Given the description of an element on the screen output the (x, y) to click on. 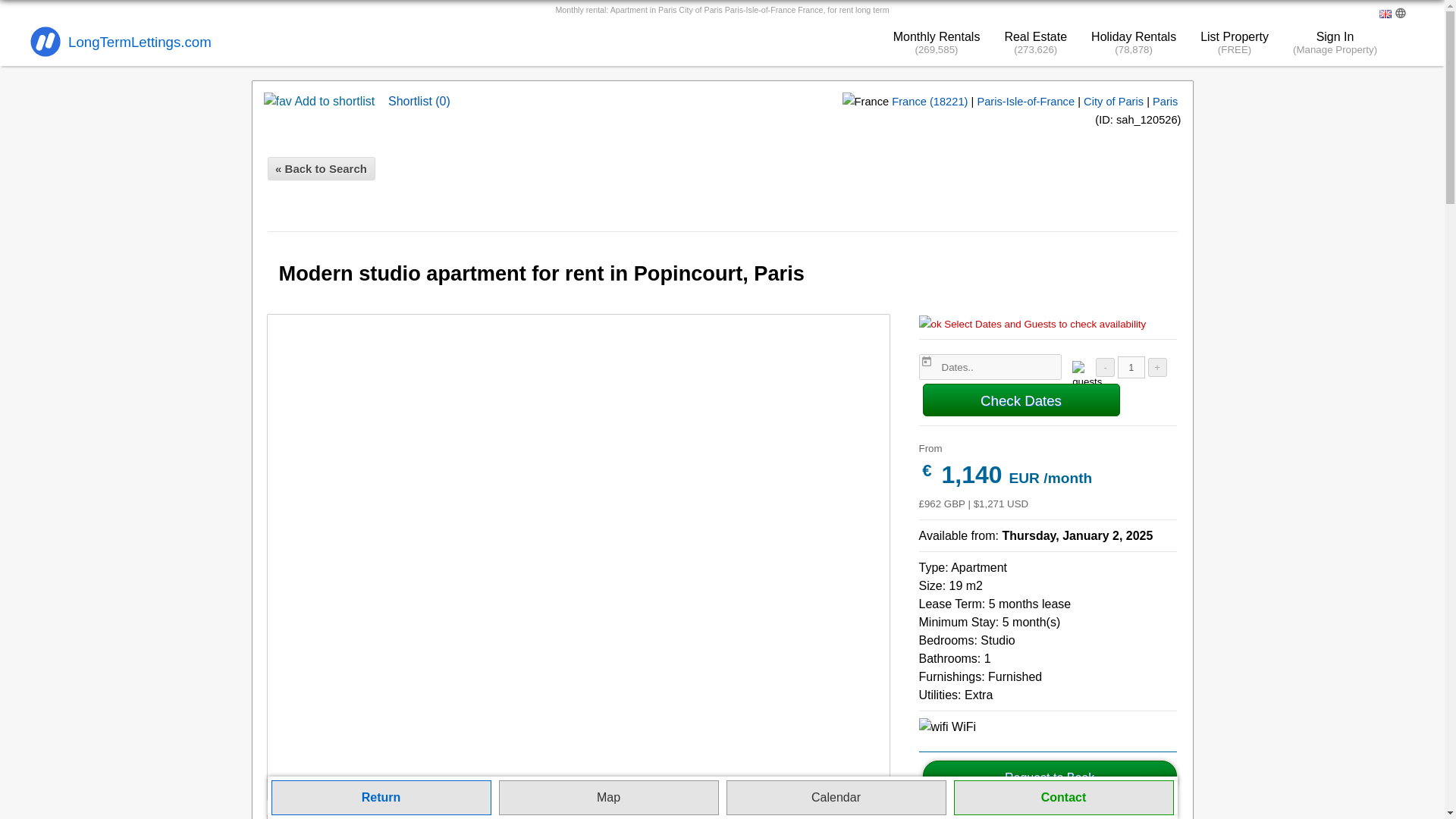
1 (1131, 367)
- (1105, 366)
Monthly rentals in Paris, Paris-Isle-of-France, France (1165, 101)
Monthly rentals in France (929, 101)
Check Dates (1020, 400)
LongTermLettings.com (121, 42)
Check Dates (1020, 400)
City of Paris (1112, 101)
Check Dates (1020, 400)
